Given the description of an element on the screen output the (x, y) to click on. 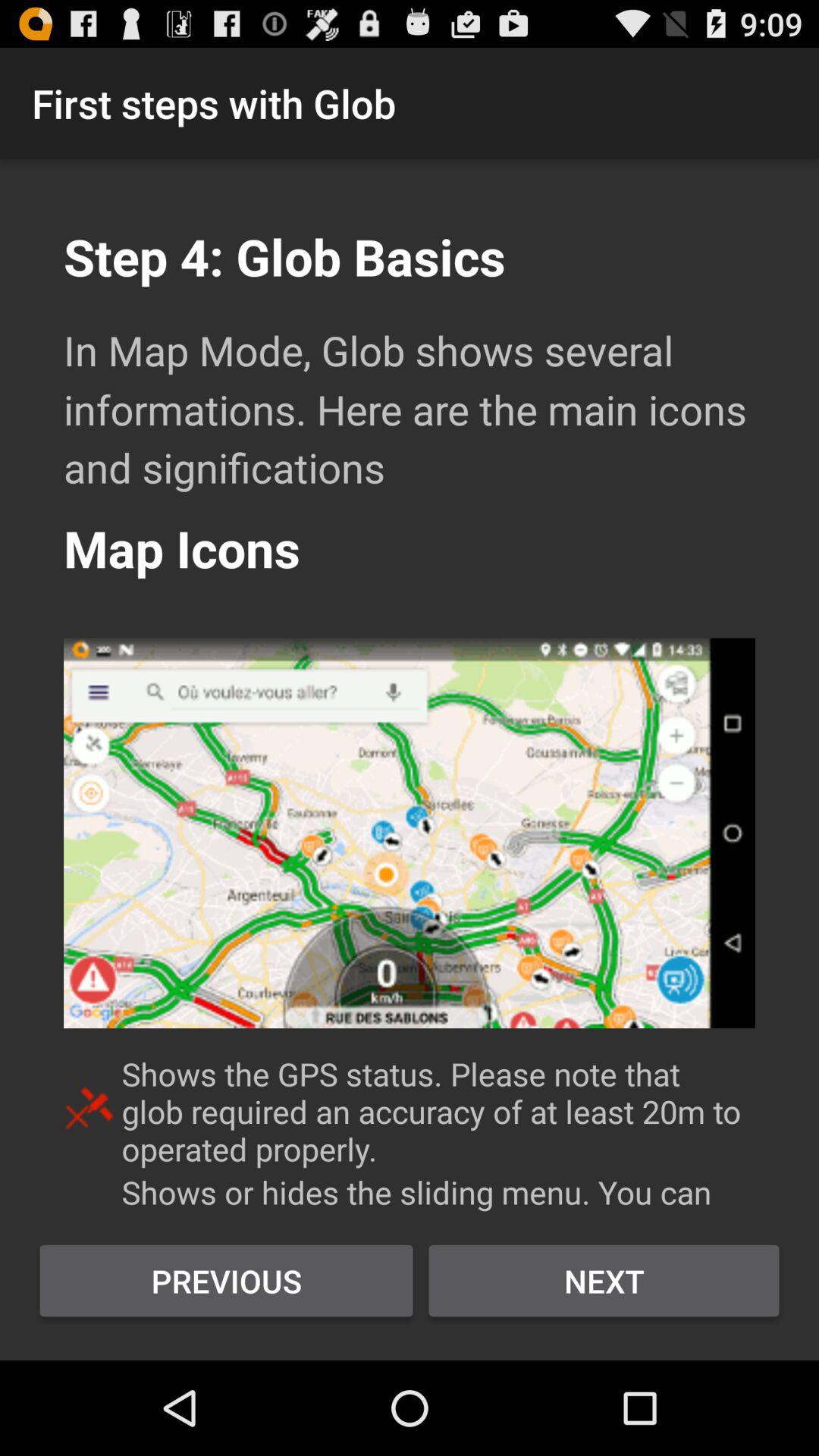
scroll until the previous button (225, 1280)
